Given the description of an element on the screen output the (x, y) to click on. 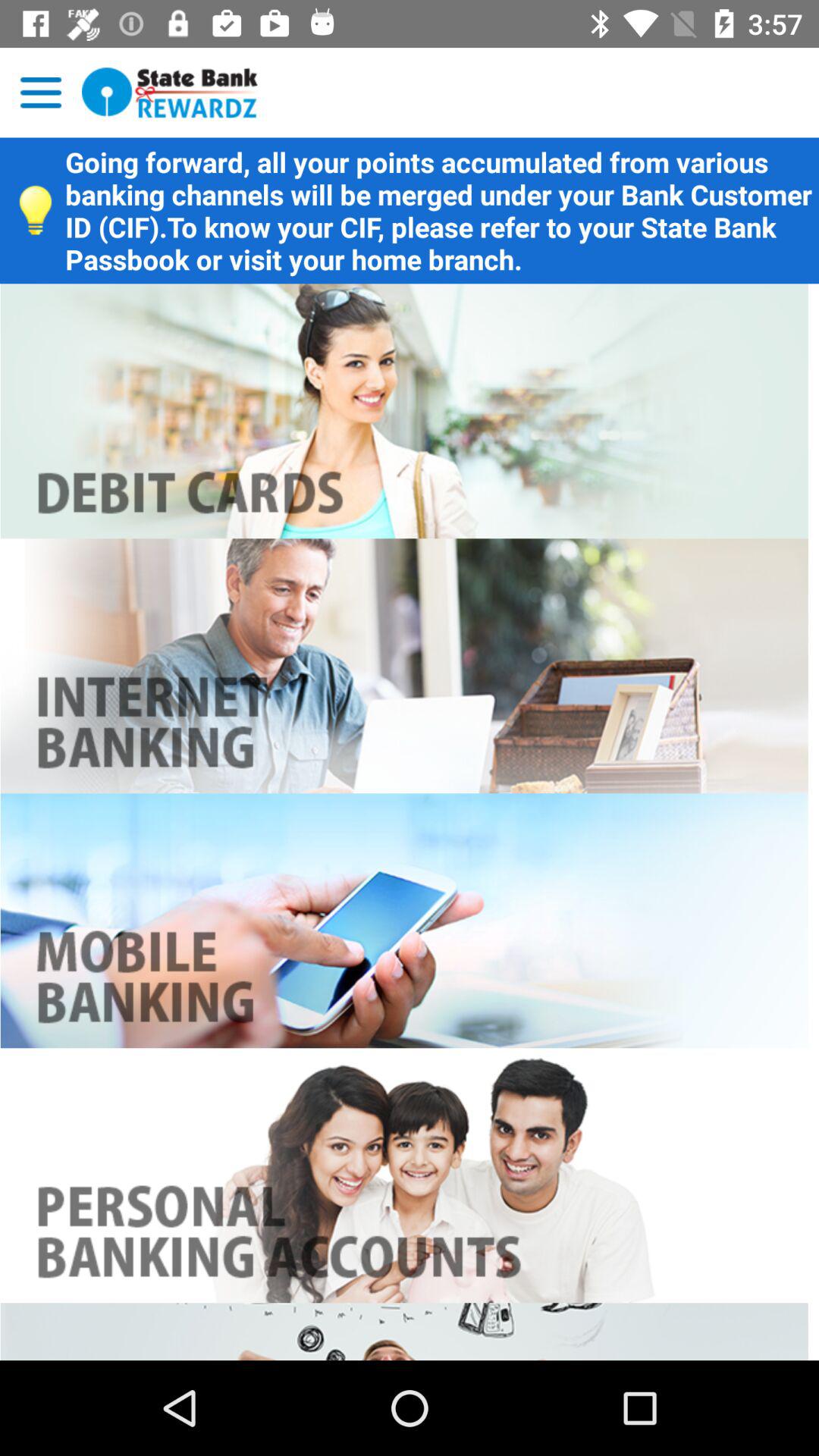
show options (40, 92)
